Given the description of an element on the screen output the (x, y) to click on. 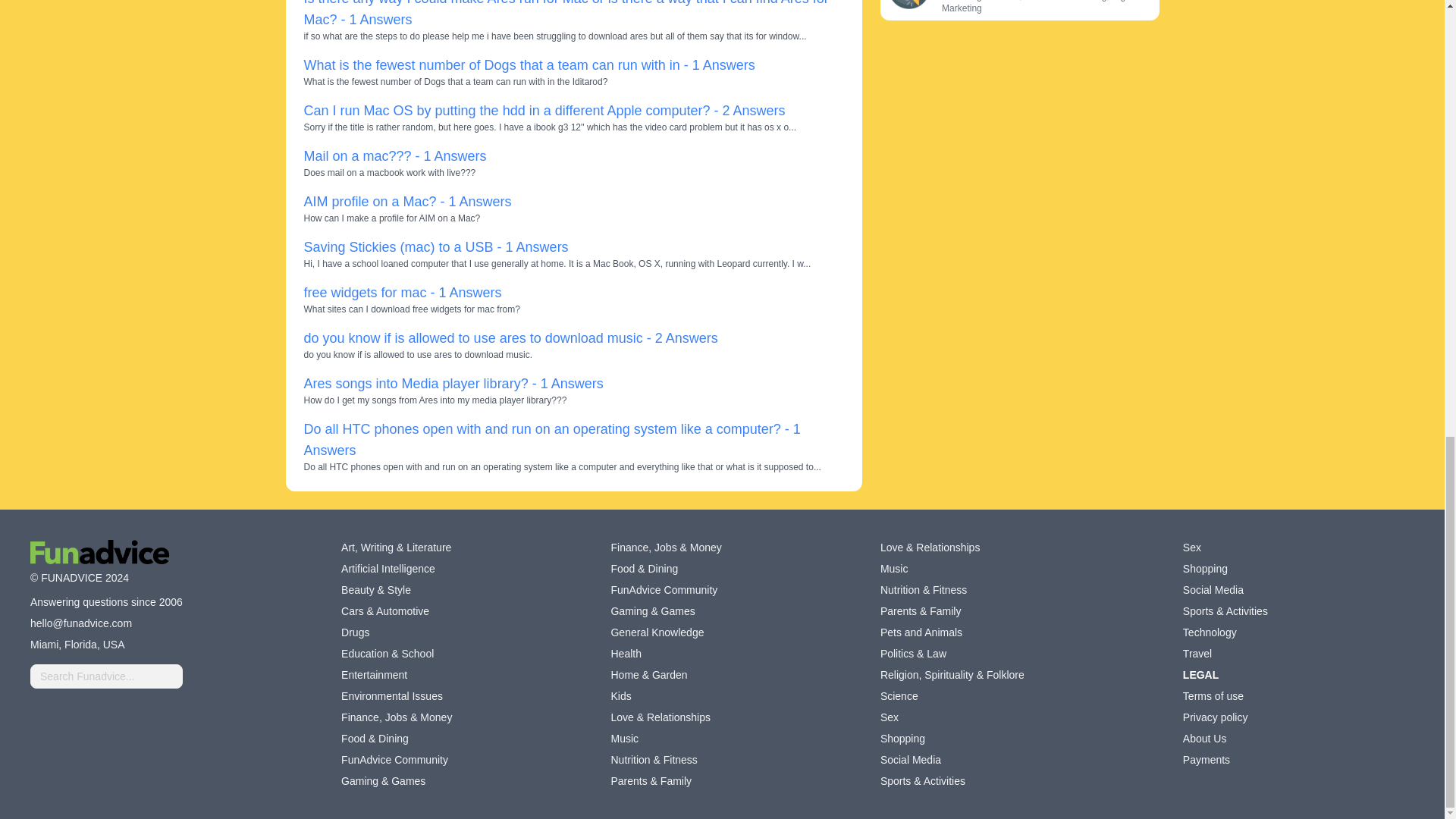
Mail on a mac??? - 1 Answers (394, 155)
Artificial Intelligence (387, 568)
Ares songs into Media player library? - 1 Answers (452, 383)
AIM profile on a Mac? - 1 Answers (406, 201)
Drugs (354, 631)
Entertainment (373, 674)
Environmental Issues (391, 695)
free widgets for mac - 1 Answers (401, 292)
Scorpion (907, 4)
